Given the description of an element on the screen output the (x, y) to click on. 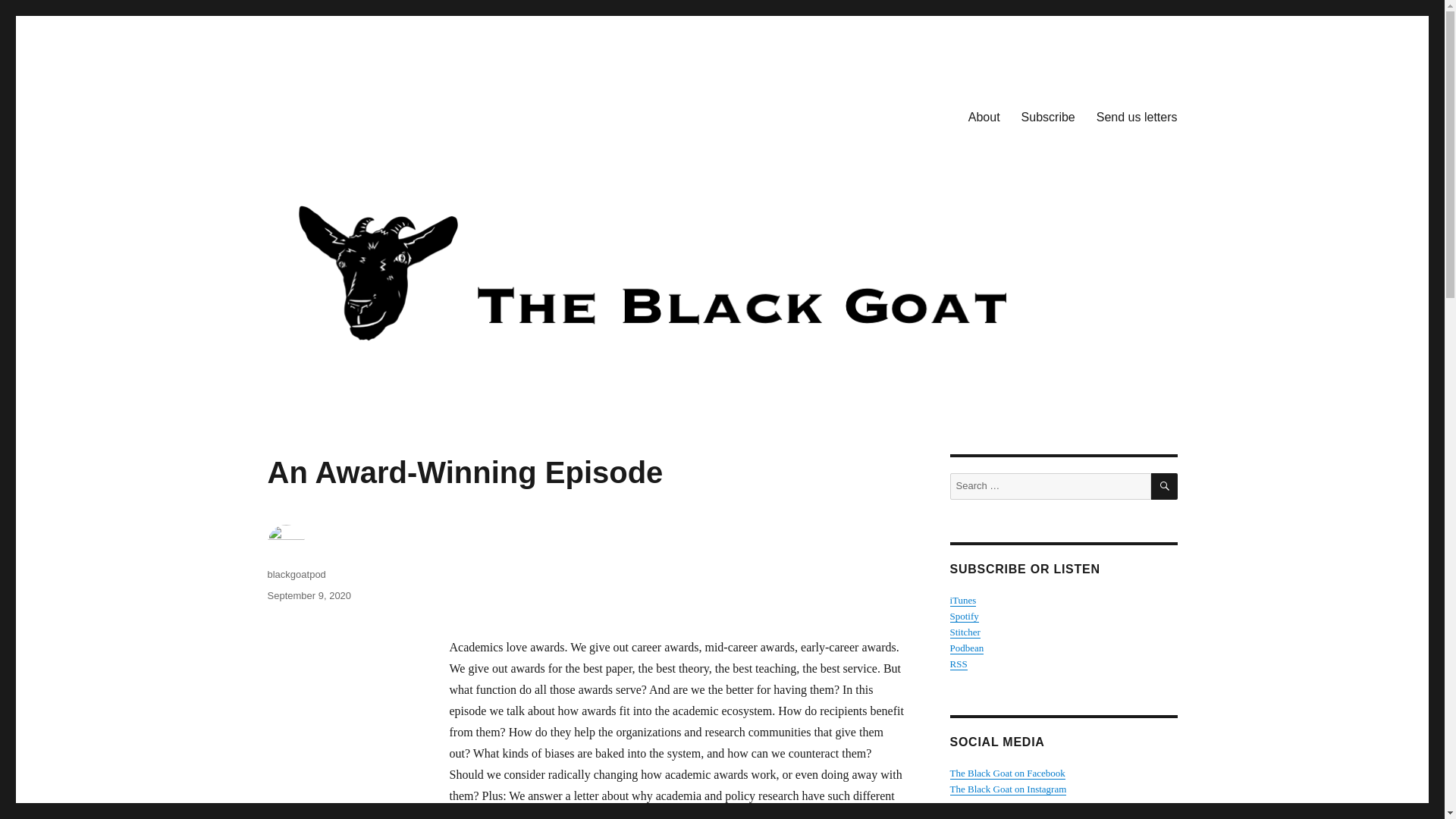
About (984, 116)
September 9, 2020 (308, 595)
blackgoatpod (295, 573)
An Award-Winning Episode (676, 569)
The Black Goat (344, 114)
Send us letters (1137, 116)
Subscribe (1048, 116)
